Given the description of an element on the screen output the (x, y) to click on. 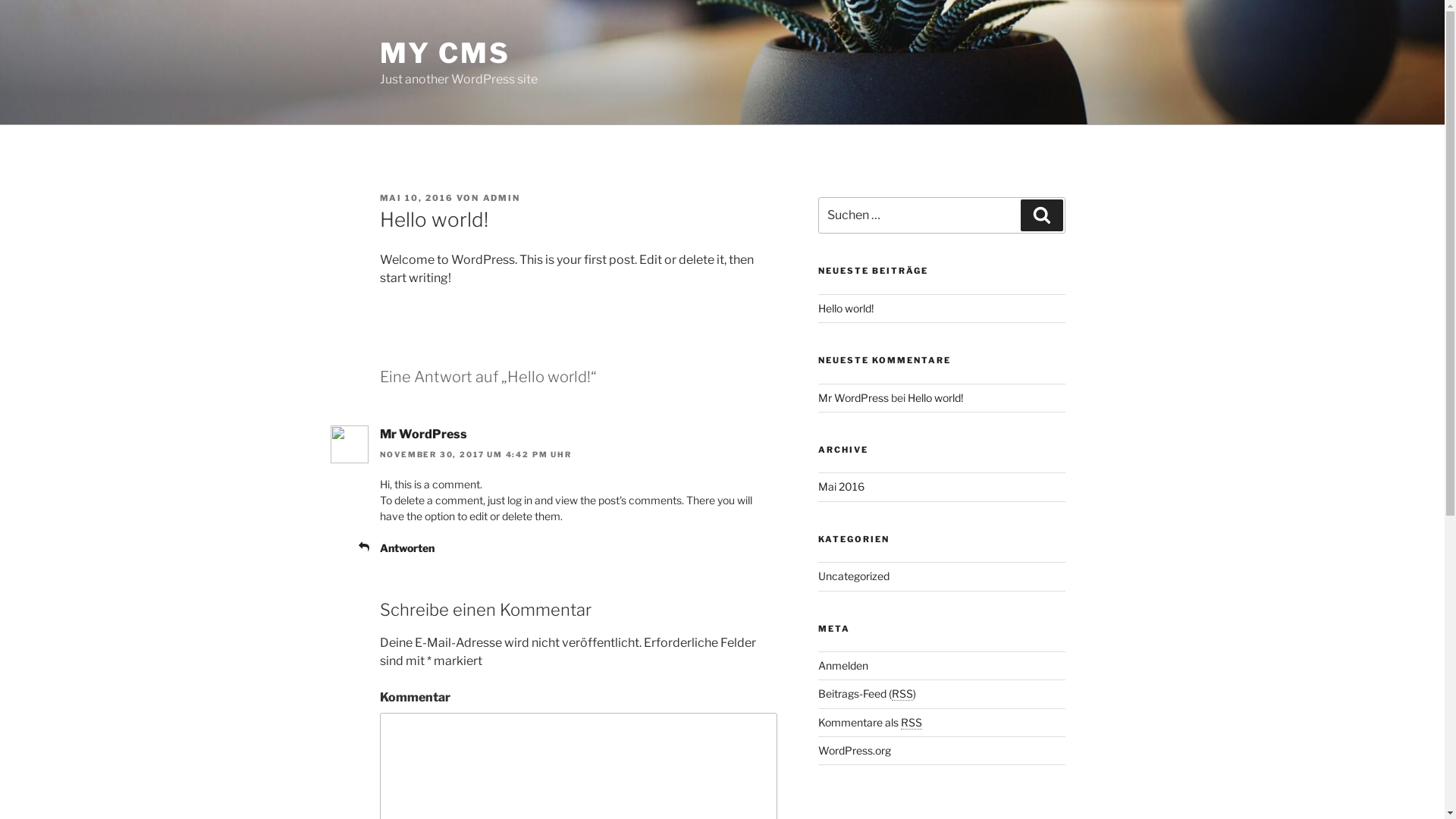
Uncategorized Element type: text (853, 575)
NOVEMBER 30, 2017 UM 4:42 PM UHR Element type: text (475, 453)
Kommentare als RSS Element type: text (870, 721)
Suchen Element type: text (1041, 215)
Beitrags-Feed (RSS) Element type: text (867, 693)
MY CMS Element type: text (444, 52)
WordPress.org Element type: text (854, 749)
Hello world! Element type: text (935, 397)
ADMIN Element type: text (501, 197)
MAI 10, 2016 Element type: text (416, 197)
Anmelden Element type: text (843, 664)
Zum Inhalt springen Element type: text (0, 0)
Mr WordPress Element type: text (853, 397)
Hello world! Element type: text (845, 307)
Mr WordPress Element type: text (422, 433)
Mai 2016 Element type: text (841, 486)
Antworten Element type: text (406, 547)
